Given the description of an element on the screen output the (x, y) to click on. 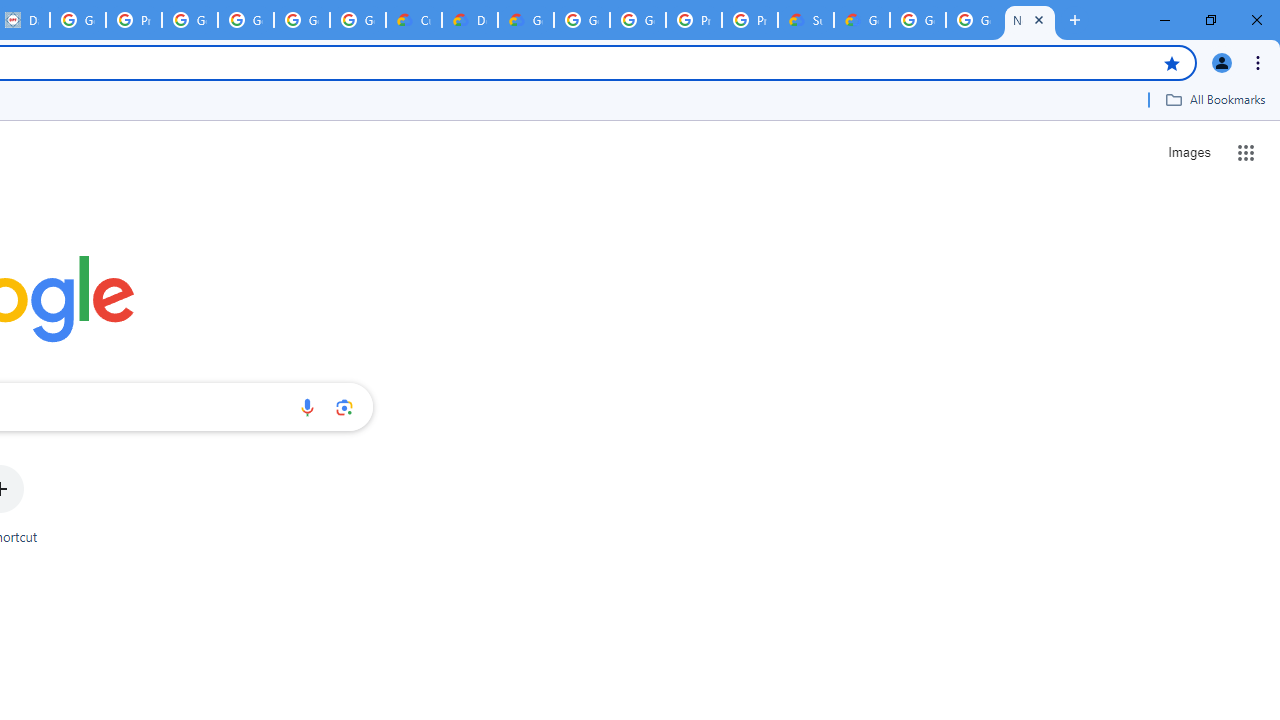
Support Hub | Google Cloud (806, 20)
Google Cloud Platform (973, 20)
Gemini for Business and Developers | Google Cloud (525, 20)
Google Cloud Platform (637, 20)
